Given the description of an element on the screen output the (x, y) to click on. 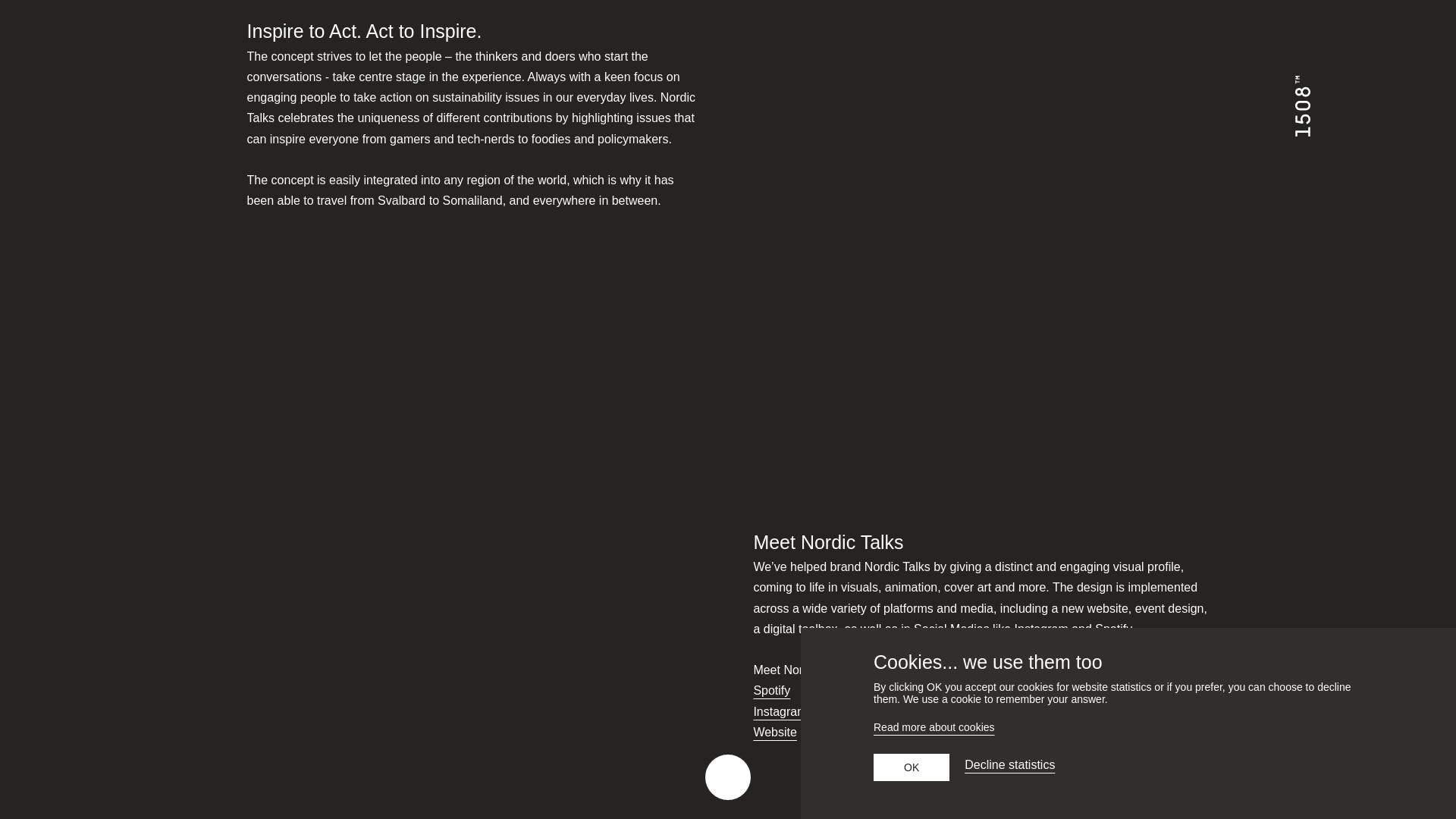
Instagram (779, 711)
Website (774, 731)
Spotify (771, 690)
